Given the description of an element on the screen output the (x, y) to click on. 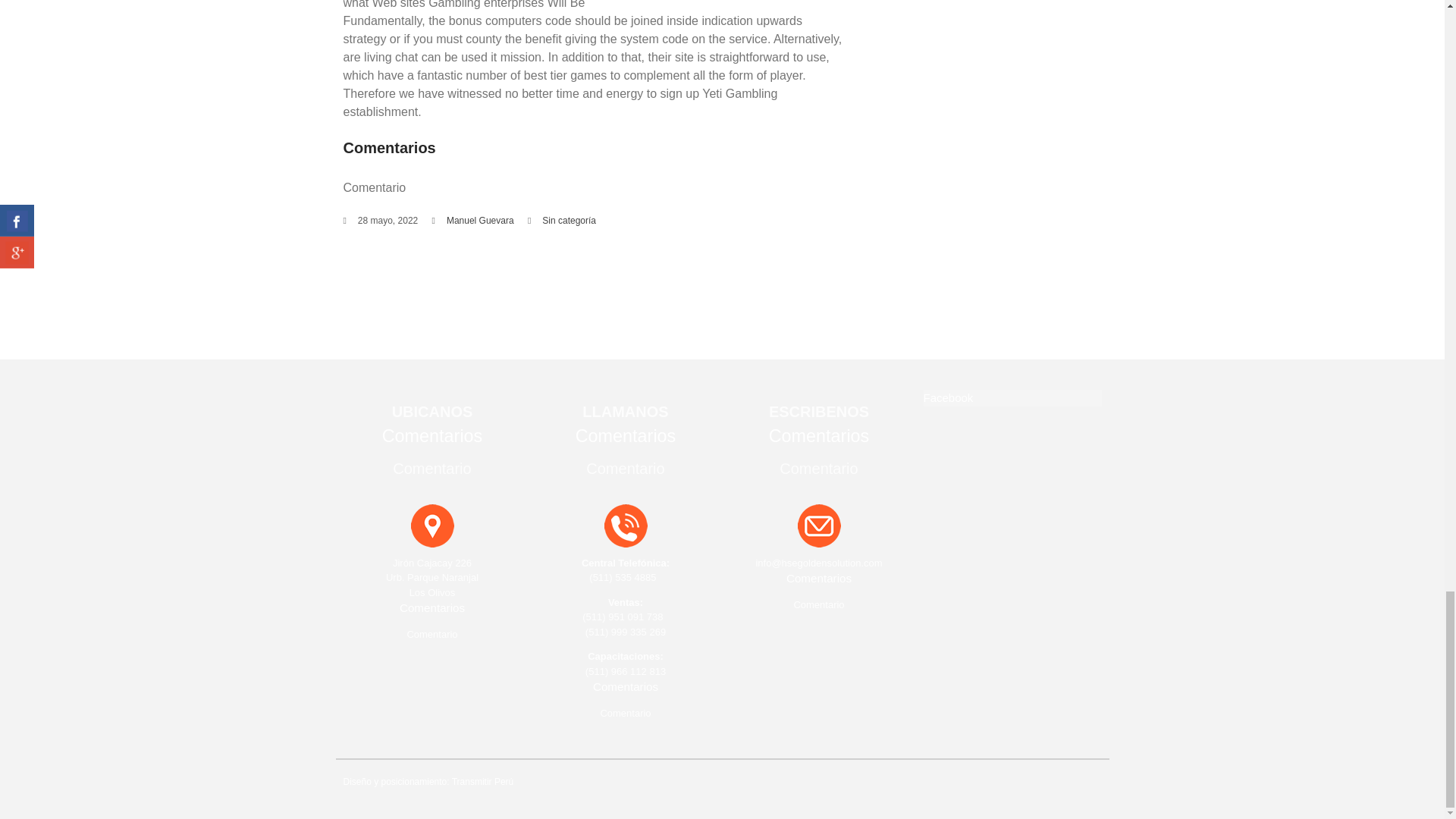
View all posts by Manuel Guevara (479, 220)
Facebook (948, 397)
Manuel Guevara (479, 220)
